Given the description of an element on the screen output the (x, y) to click on. 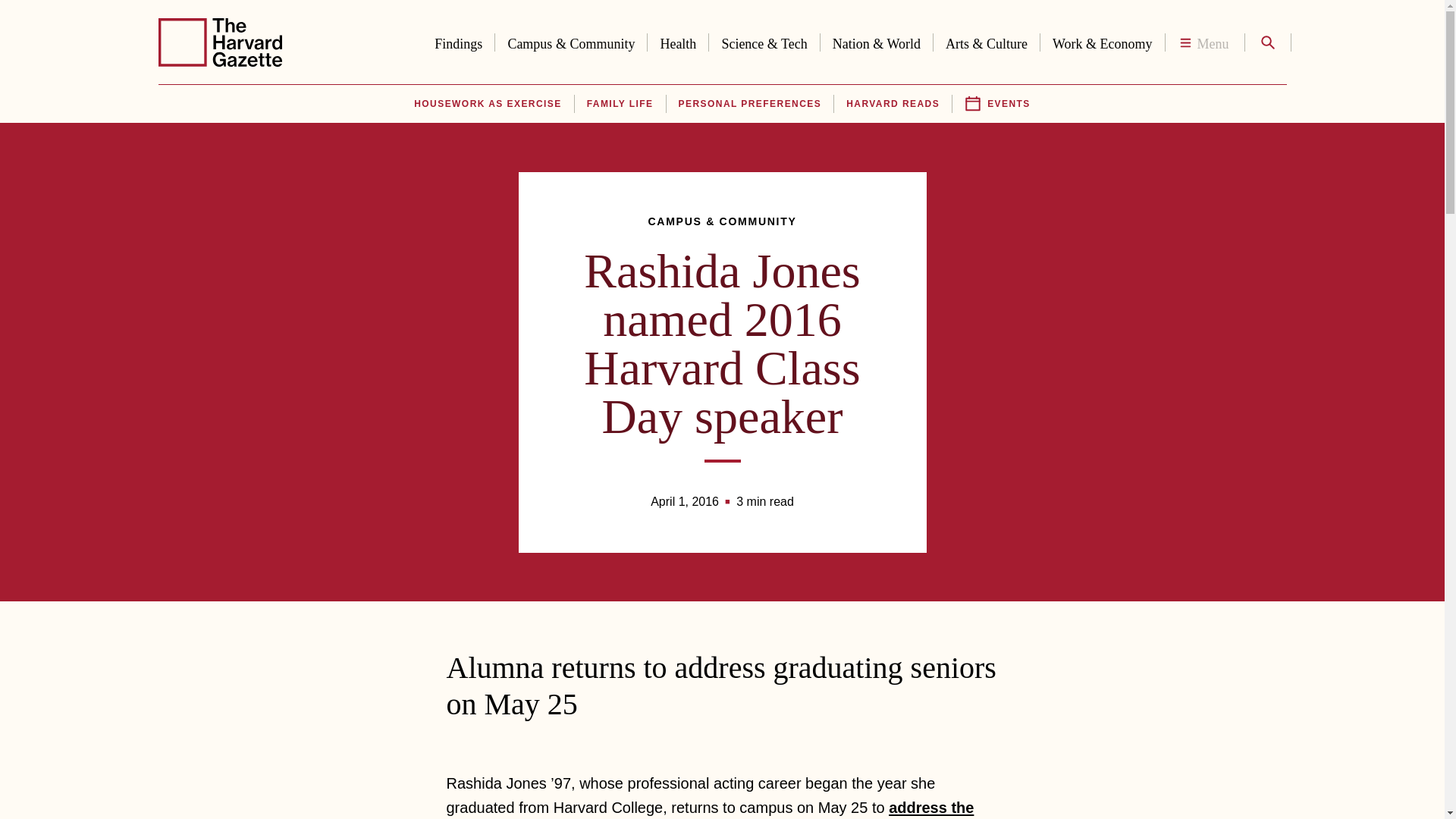
Findings (457, 41)
HOUSEWORK AS EXERCISE (487, 103)
FAMILY LIFE (620, 103)
Menu (1204, 42)
Health (677, 41)
